Given the description of an element on the screen output the (x, y) to click on. 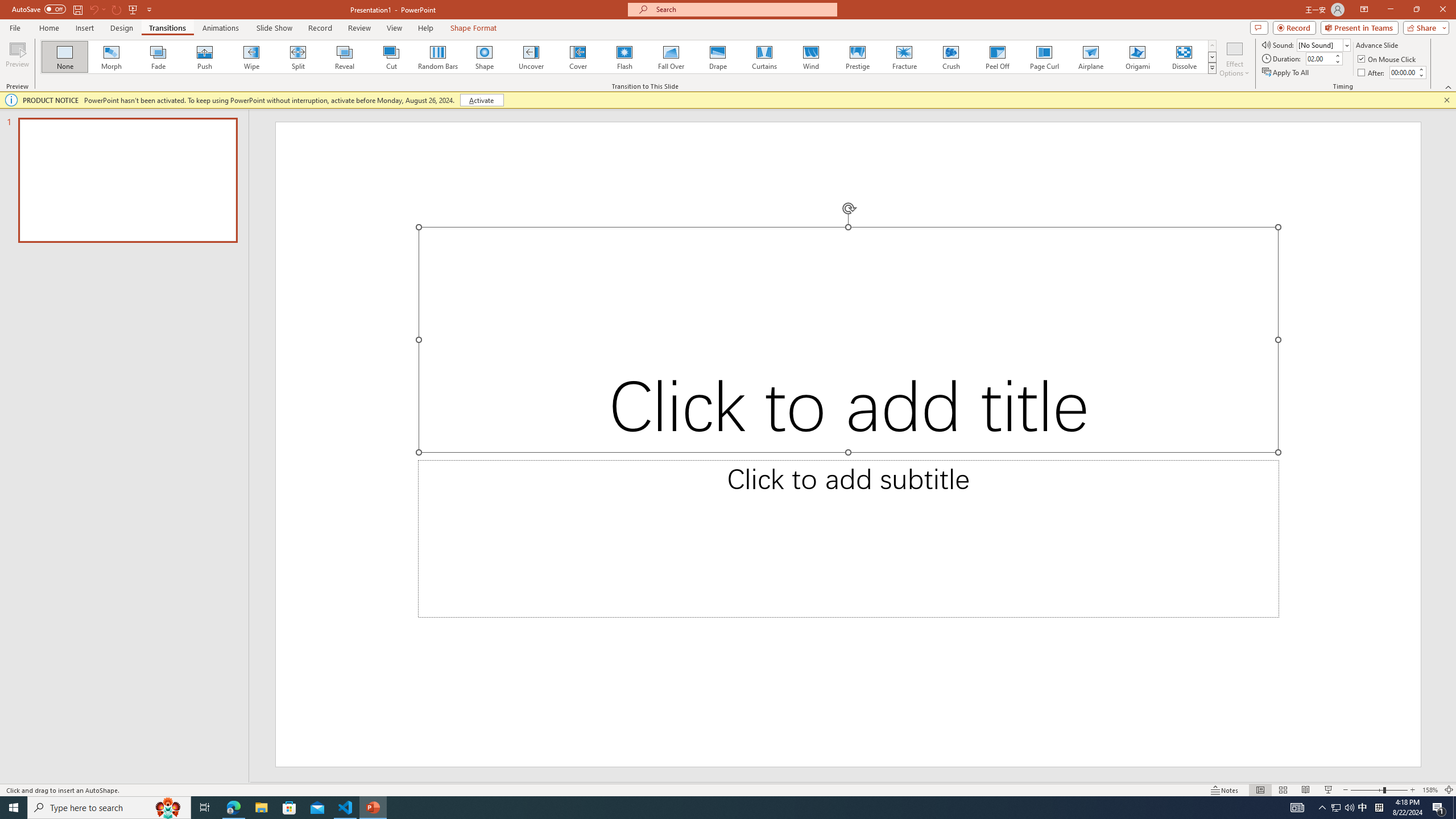
Effect Options (1234, 58)
Apply To All (1286, 72)
Airplane (1090, 56)
More (1420, 69)
Curtains (764, 56)
Prestige (857, 56)
After (1403, 72)
Duration (1319, 58)
